Given the description of an element on the screen output the (x, y) to click on. 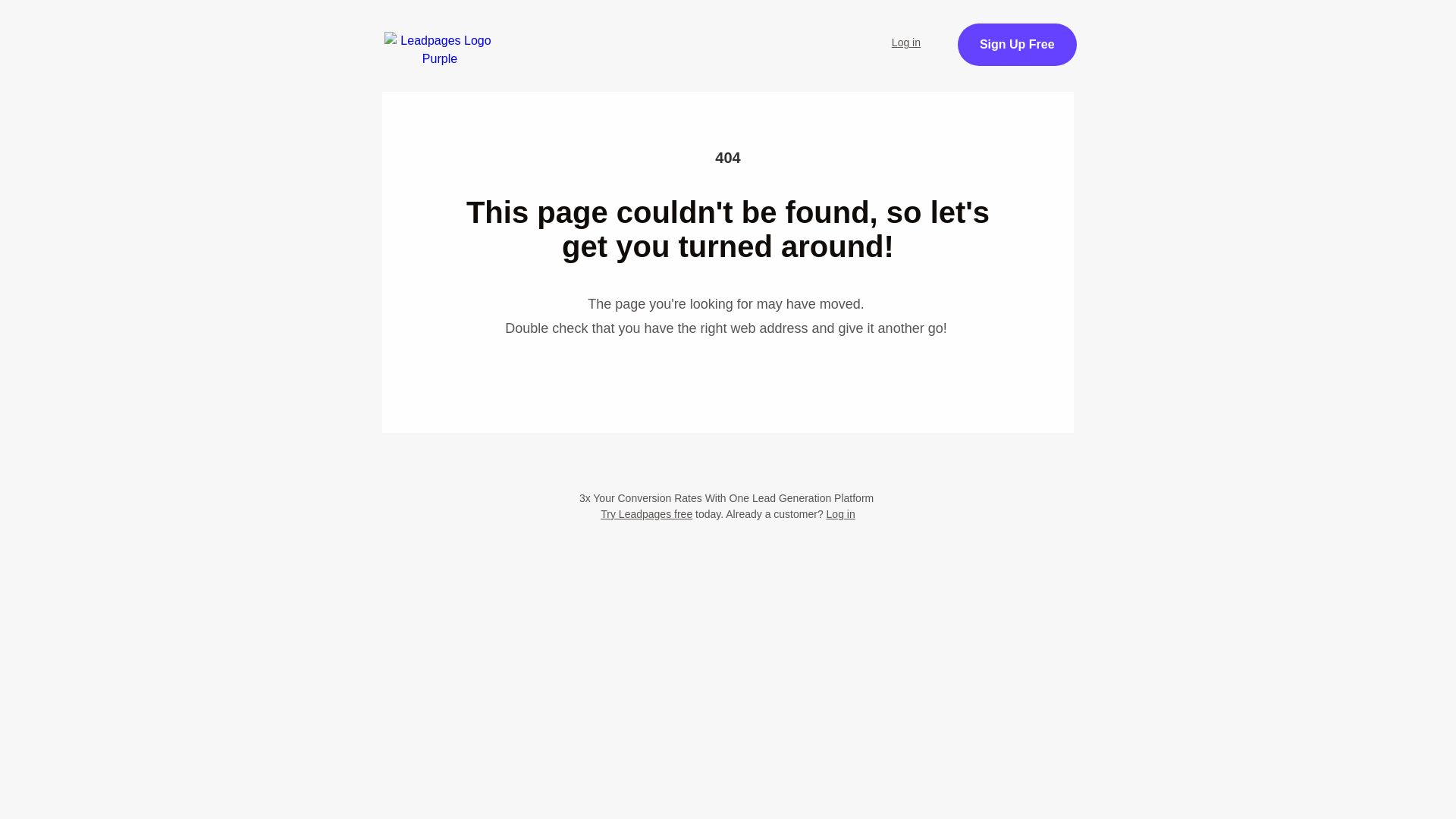
Start Spiritual Gifts Test (627, 33)
Give To The Ministry (529, 74)
Get Free Prophecy (1070, 53)
Our Verse of the Day (791, 33)
HOME (501, 33)
Get Free Book From The Ministry (727, 150)
